Given the description of an element on the screen output the (x, y) to click on. 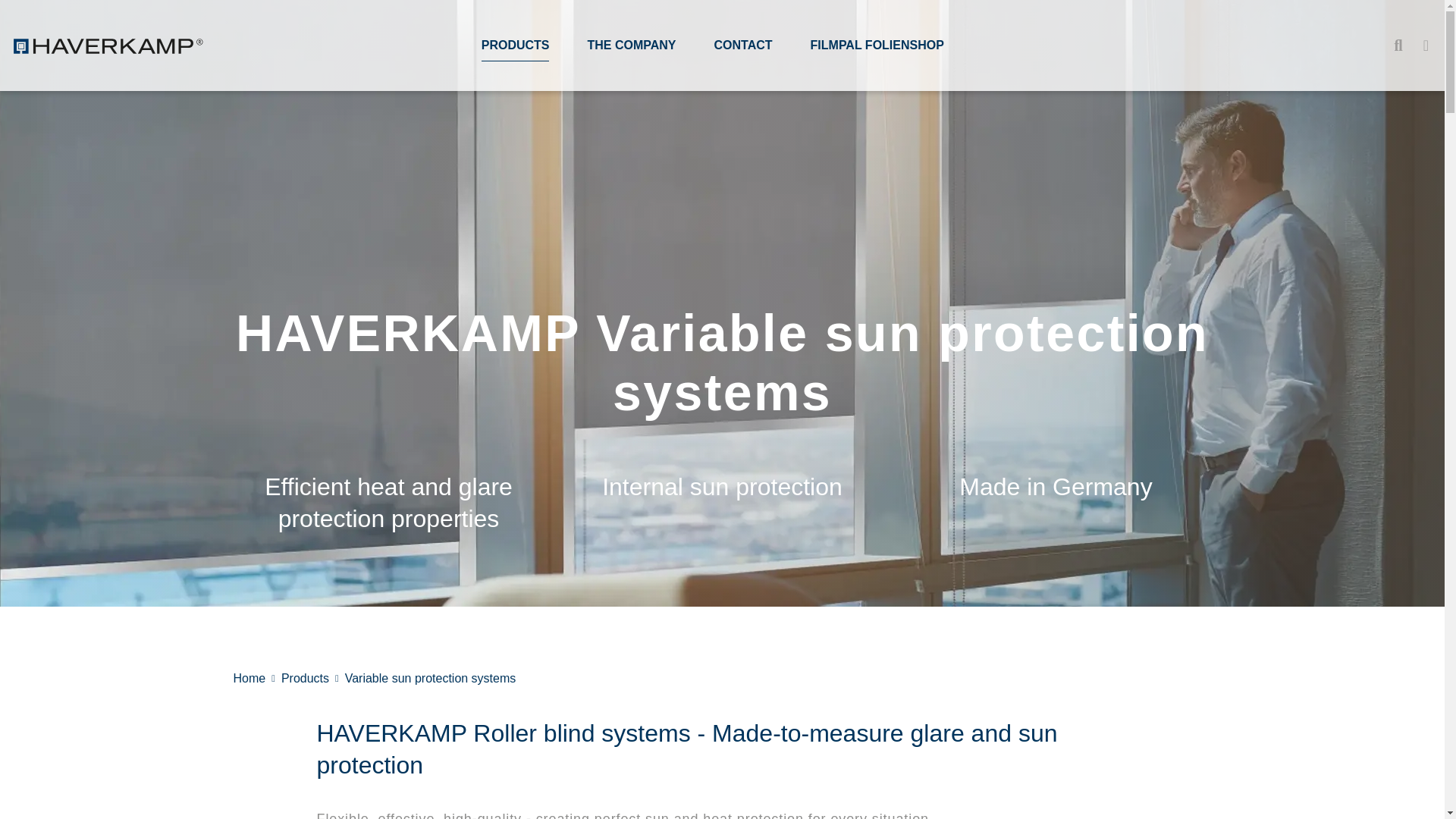
Products (305, 677)
Home (249, 677)
Variable sun protection systems (430, 677)
